Given the description of an element on the screen output the (x, y) to click on. 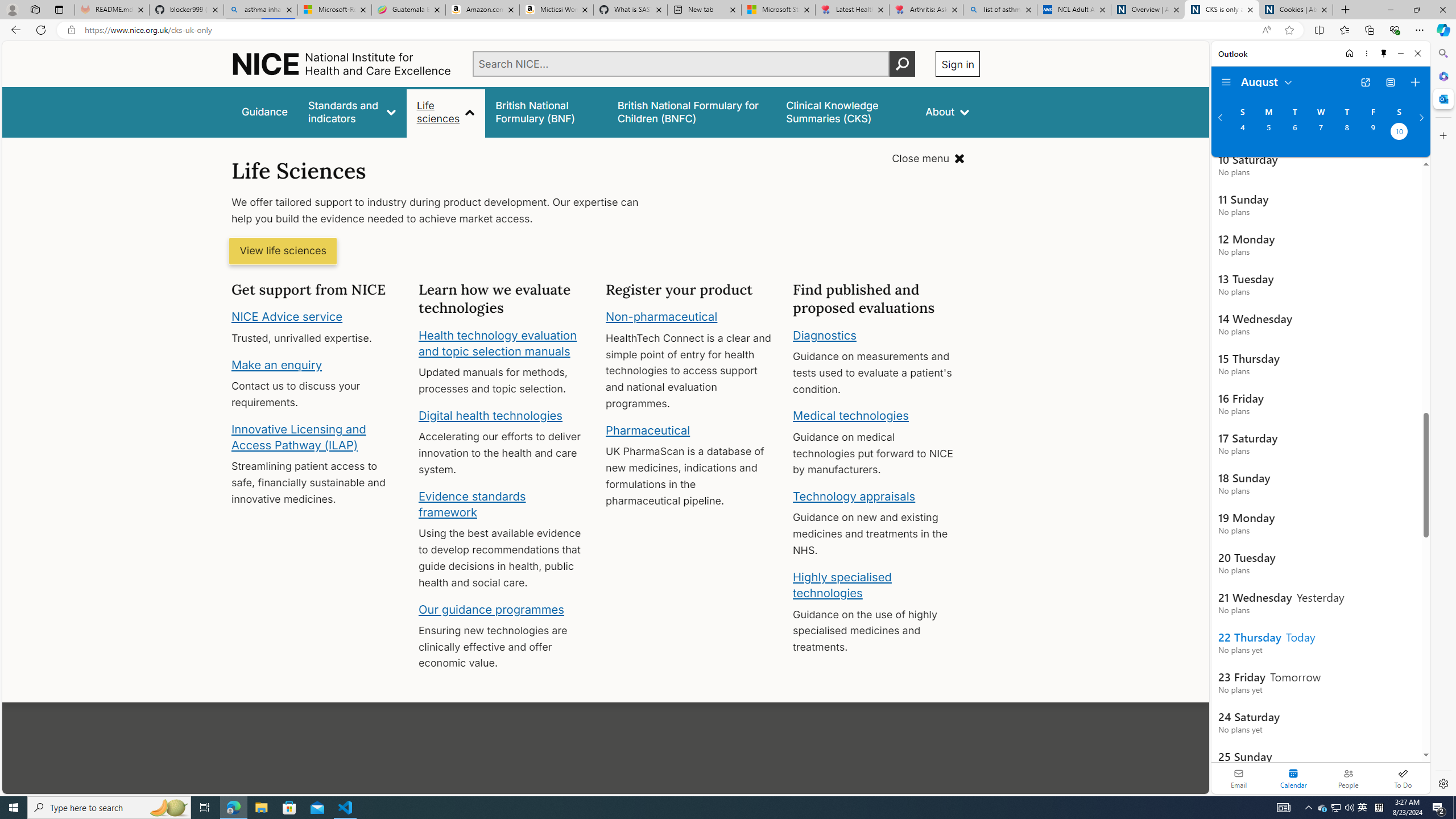
Make an enquiry (276, 364)
Monday, August 5, 2024.  (1268, 132)
Folder navigation (1225, 82)
Close menu (927, 159)
Friday, August 9, 2024.  (1372, 132)
Create event (1414, 82)
